Given the description of an element on the screen output the (x, y) to click on. 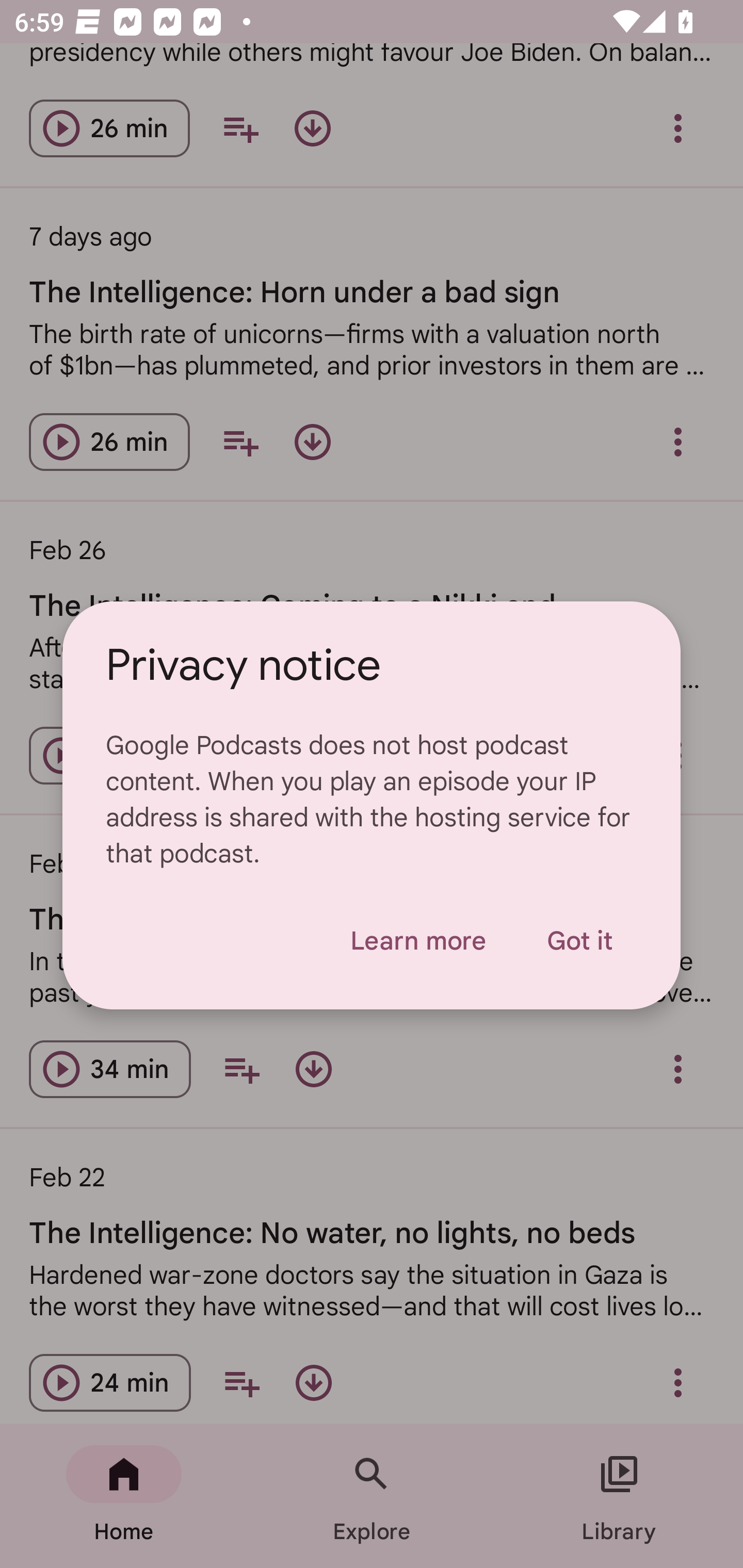
Learn more (417, 940)
Got it (579, 940)
